Given the description of an element on the screen output the (x, y) to click on. 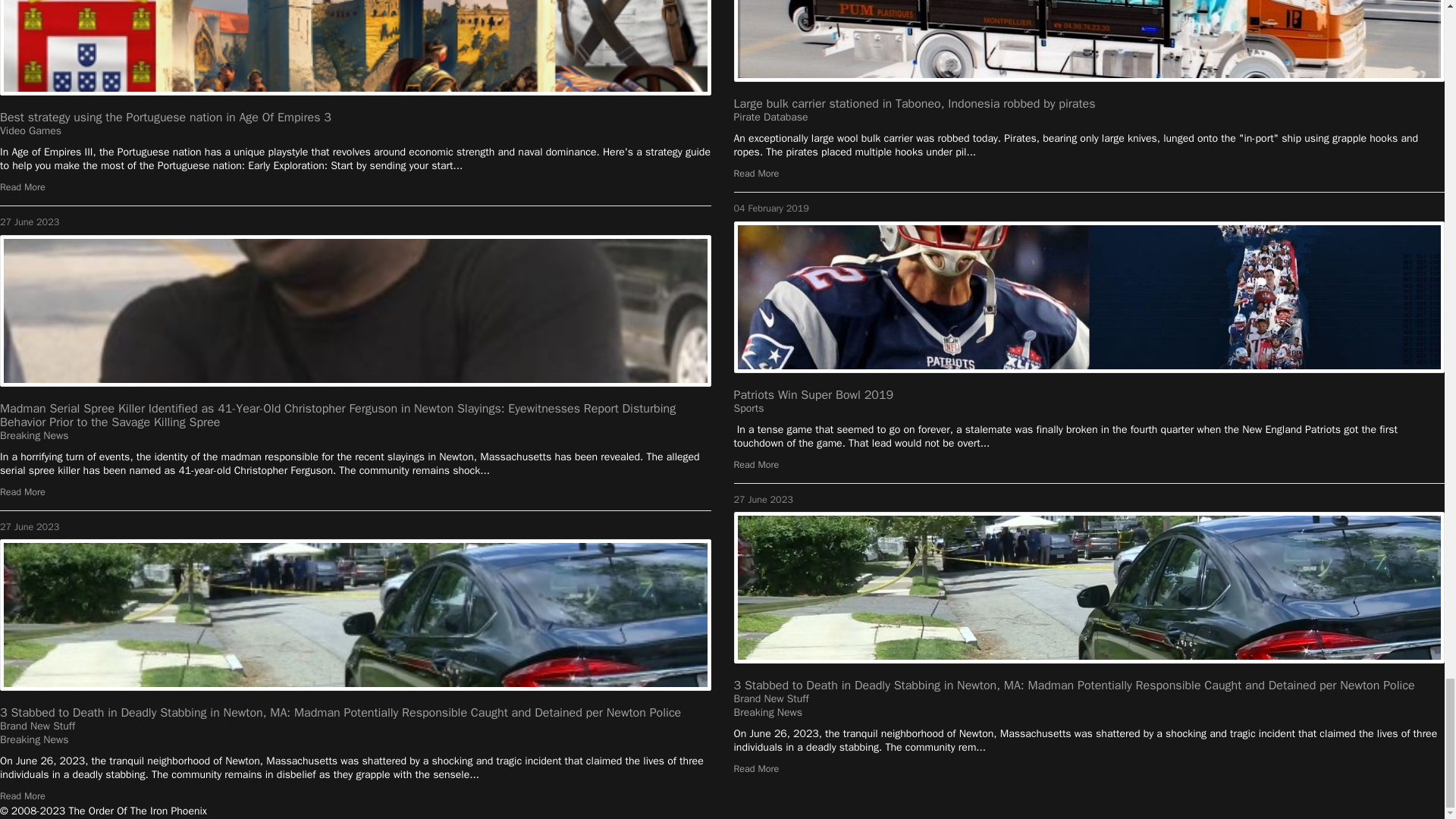
Portugal Strategy (355, 47)
Chris Ferguson  (355, 310)
Newton Triple Homocide (355, 614)
